Given the description of an element on the screen output the (x, y) to click on. 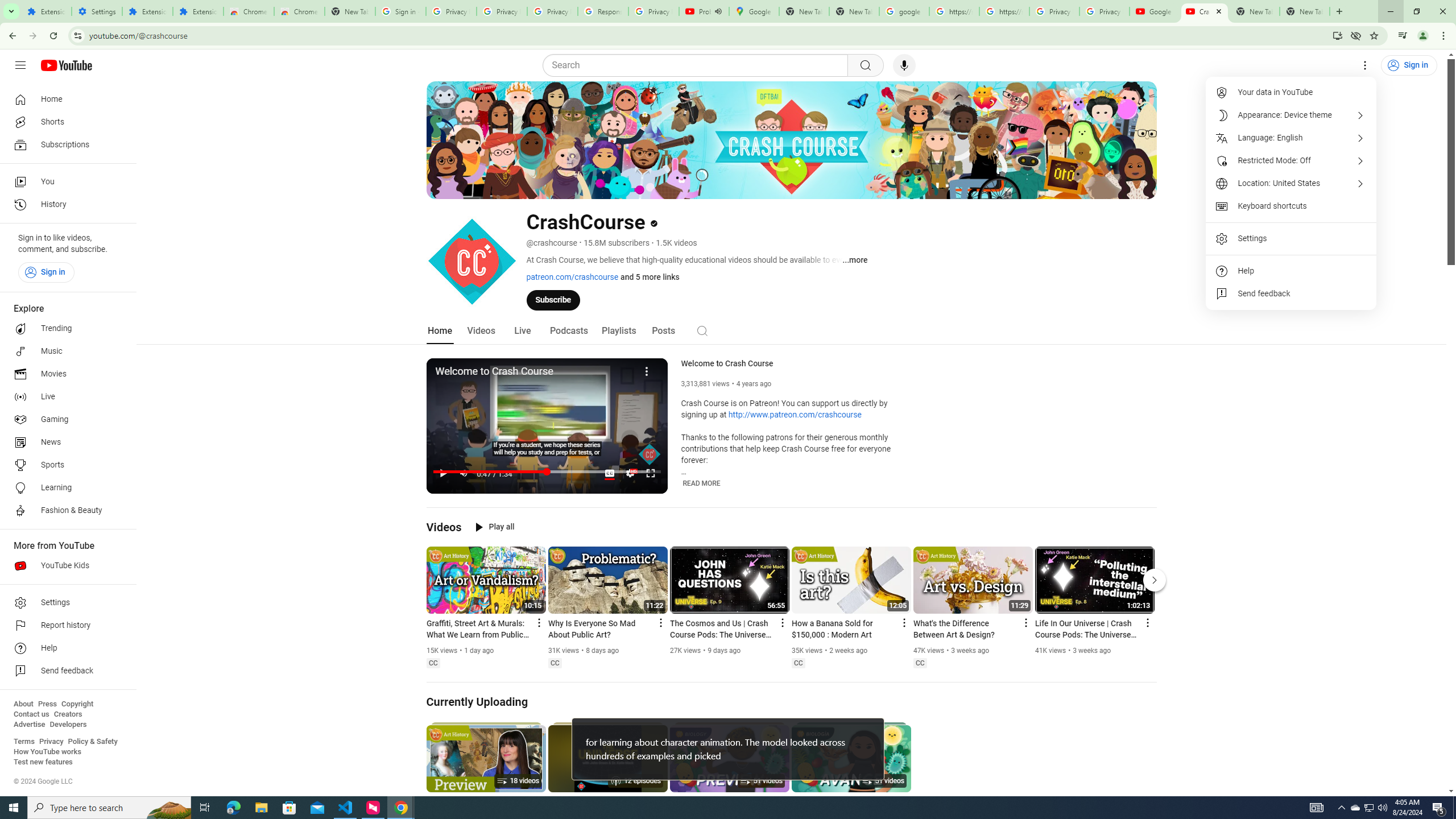
Sign in - Google Accounts (399, 11)
Learning (64, 487)
Chrome Web Store (248, 11)
Trending (64, 328)
Currently Uploading (477, 701)
Mute (m) (463, 472)
Chrome Web Store - Themes (299, 11)
Sports (64, 464)
patreon.com/crashcourse (571, 276)
